Given the description of an element on the screen output the (x, y) to click on. 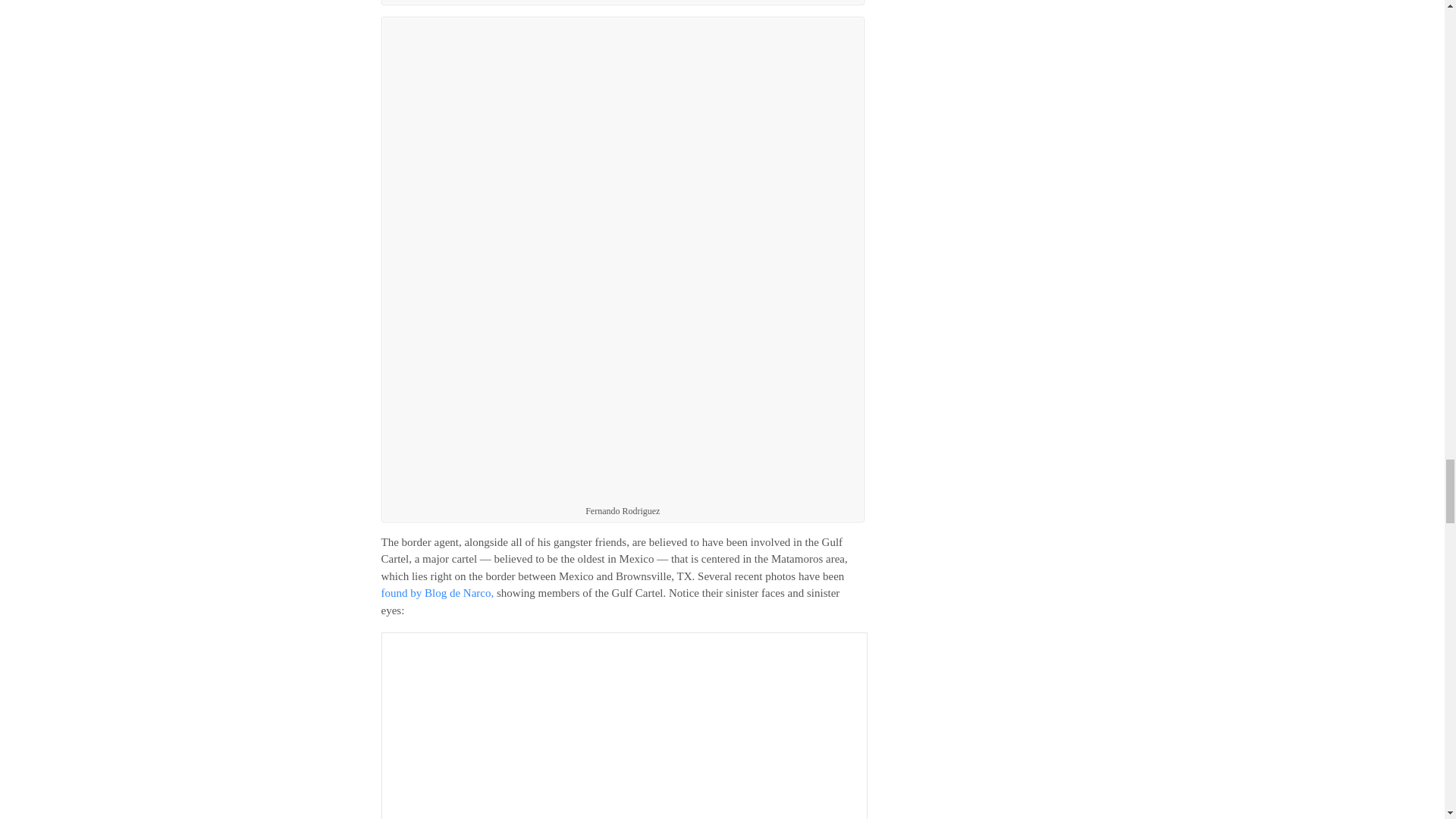
found by Blog de Narco, (436, 592)
